Given the description of an element on the screen output the (x, y) to click on. 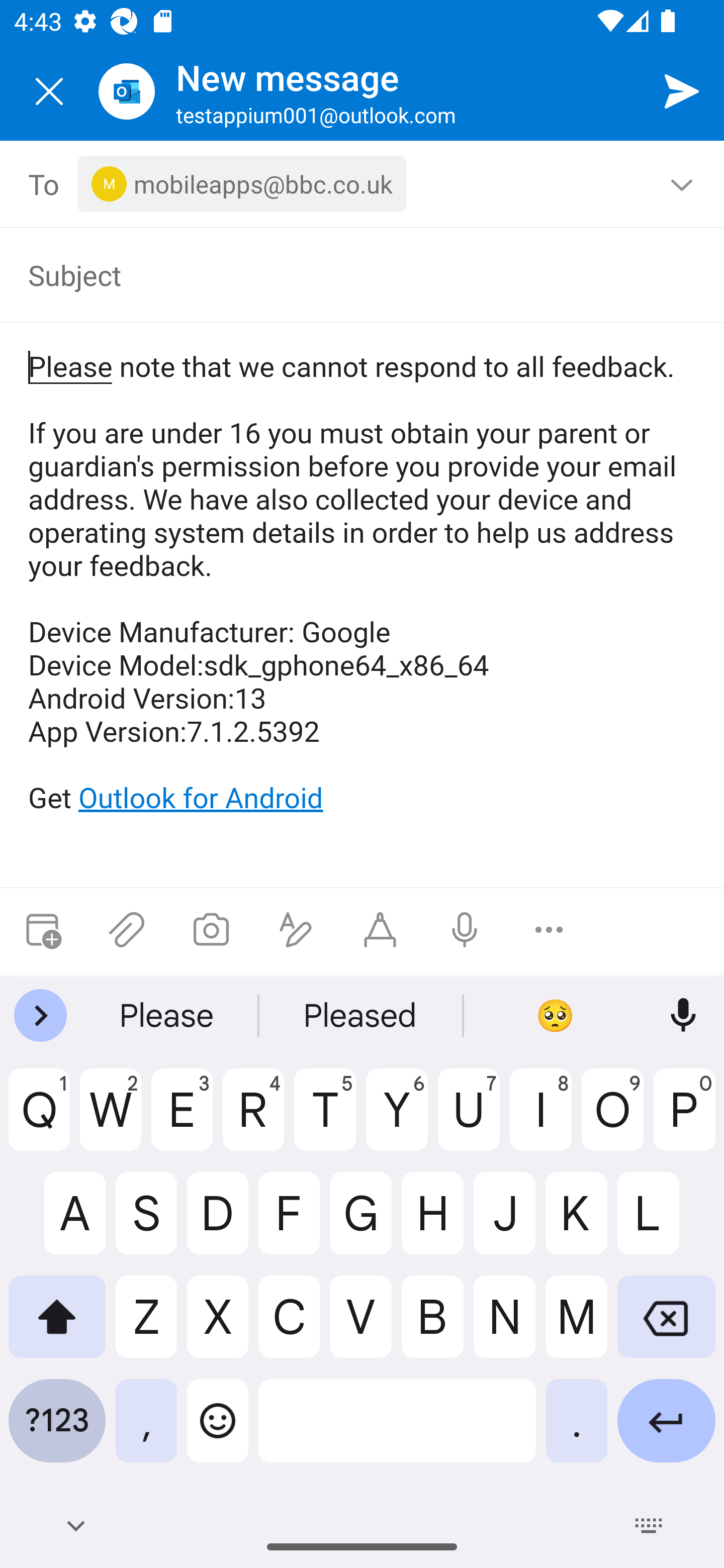
Close (49, 91)
Send (681, 90)
To, 1 recipient <mobileapps@bbc.co.uk> (362, 184)
Subject (347, 274)
Attach meeting (42, 929)
Attach files (126, 929)
Take a photo (210, 929)
Show formatting options (295, 929)
Start Ink compose (380, 929)
Dictation (464, 929)
More options (548, 929)
